Given the description of an element on the screen output the (x, y) to click on. 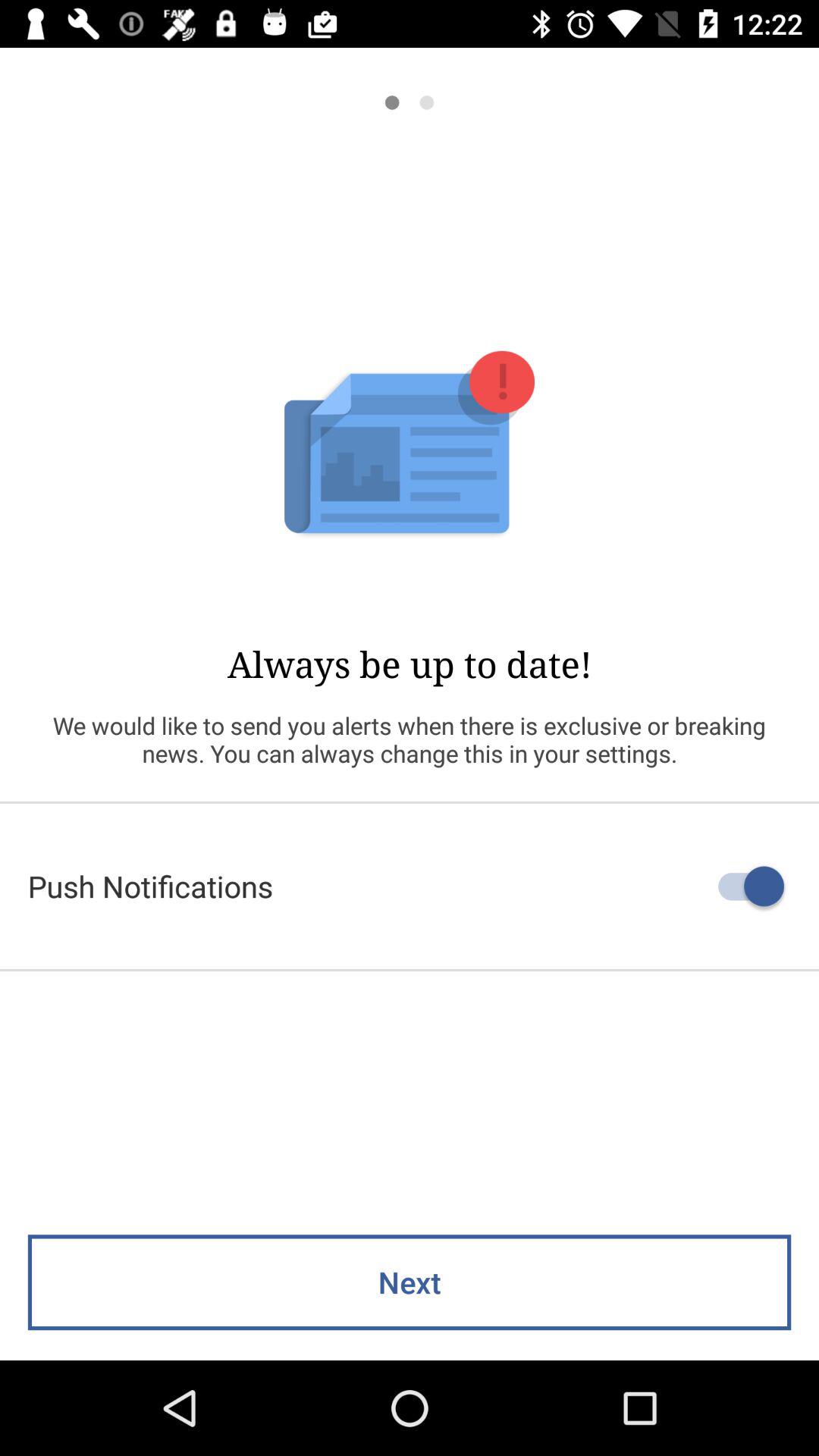
jump until push notifications (409, 886)
